Given the description of an element on the screen output the (x, y) to click on. 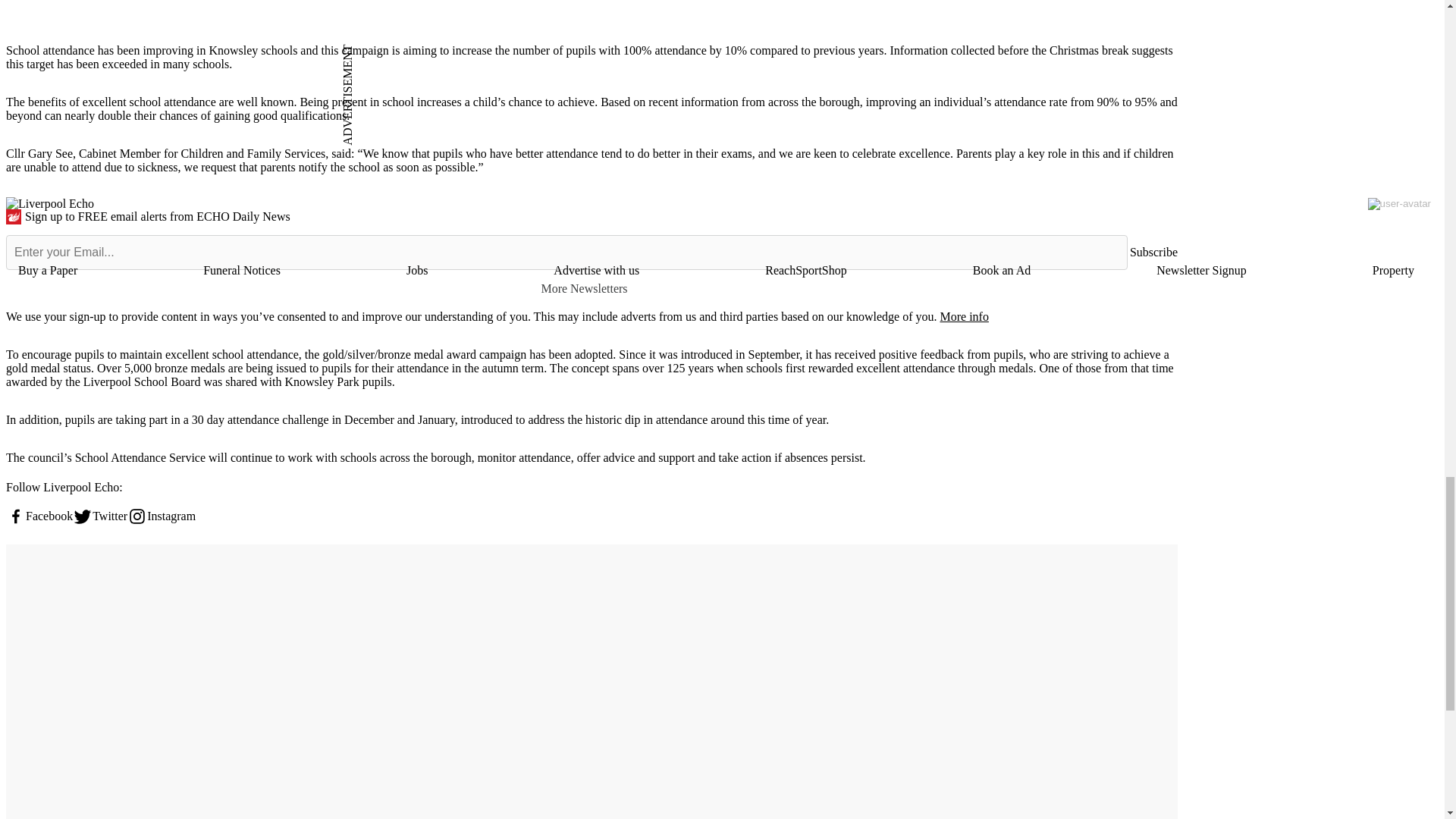
More info (963, 316)
More Newsletters (591, 287)
Instagram (161, 516)
Subscribe (1153, 252)
Twitter (100, 516)
Facebook (38, 516)
